Given the description of an element on the screen output the (x, y) to click on. 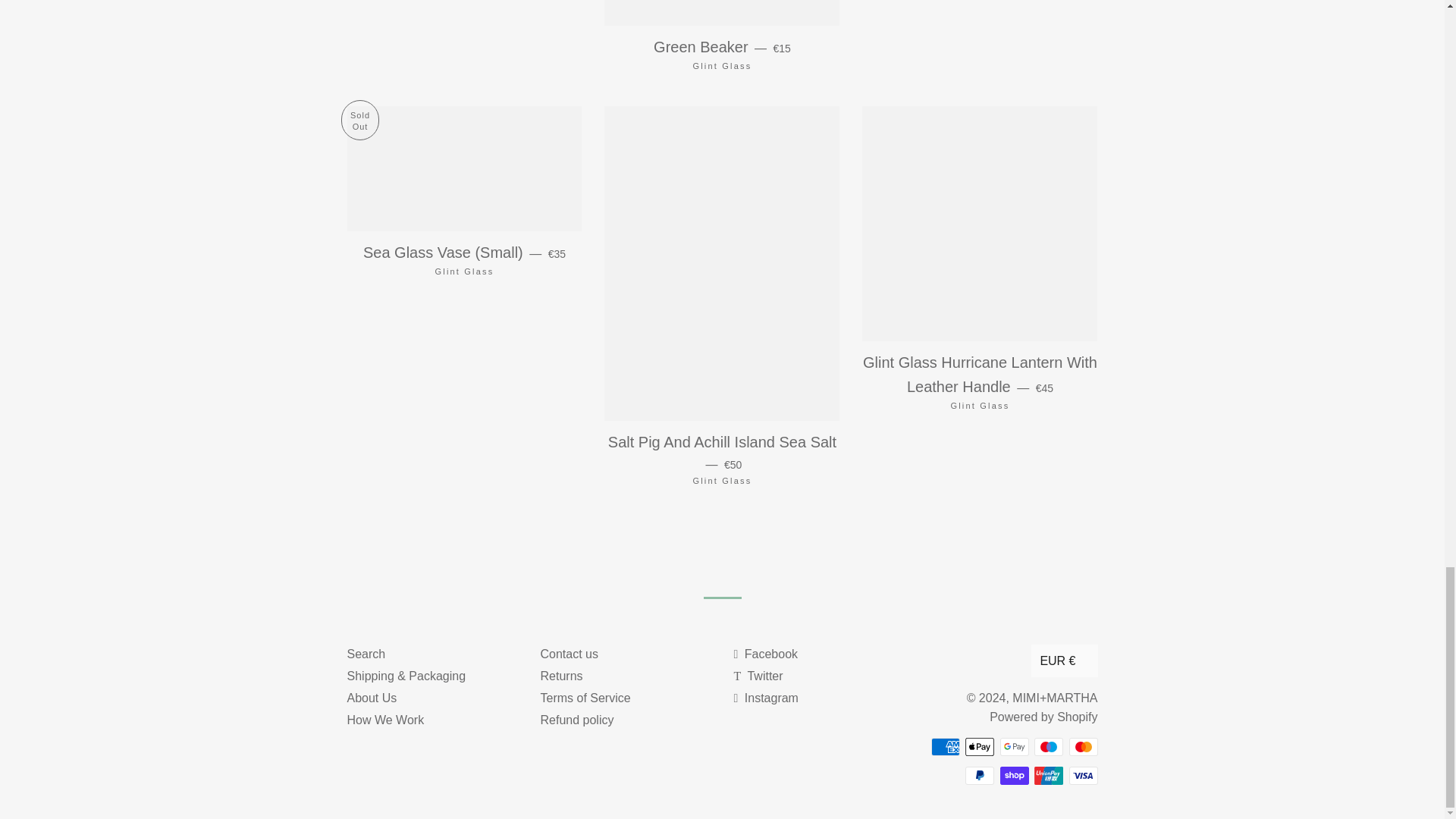
Google Pay (1012, 746)
Shop Pay (1012, 775)
Union Pay (1047, 775)
Mastercard (1082, 746)
PayPal (979, 775)
Maestro (1047, 746)
Visa (1082, 775)
American Express (945, 746)
Apple Pay (979, 746)
